Given the description of an element on the screen output the (x, y) to click on. 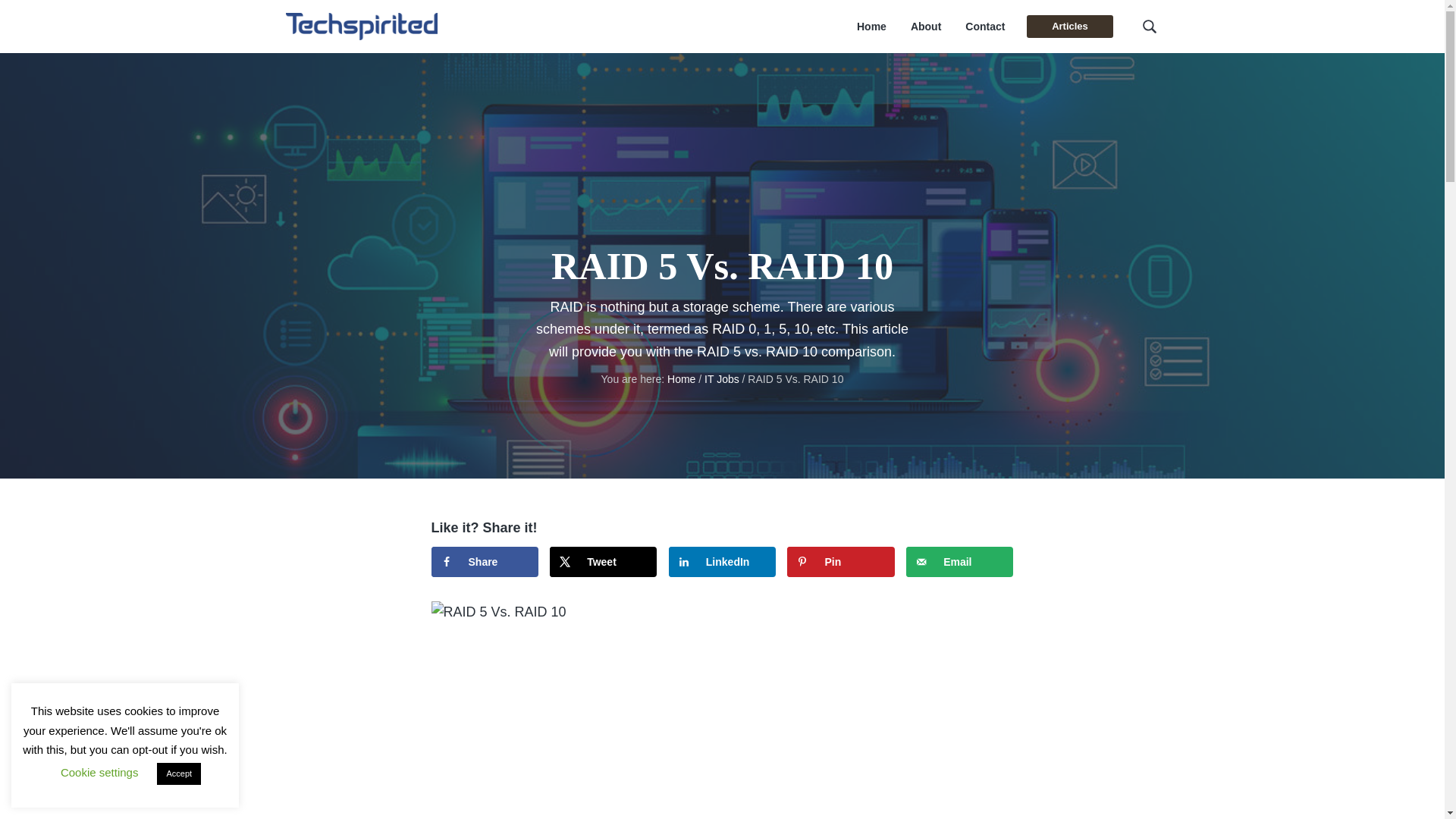
Email (959, 562)
Send over email (959, 562)
Tweet (603, 562)
About (925, 27)
Home (871, 27)
Cookie settings (99, 771)
LinkedIn (722, 562)
IT Jobs (721, 378)
Save to Pinterest (840, 562)
